Given the description of an element on the screen output the (x, y) to click on. 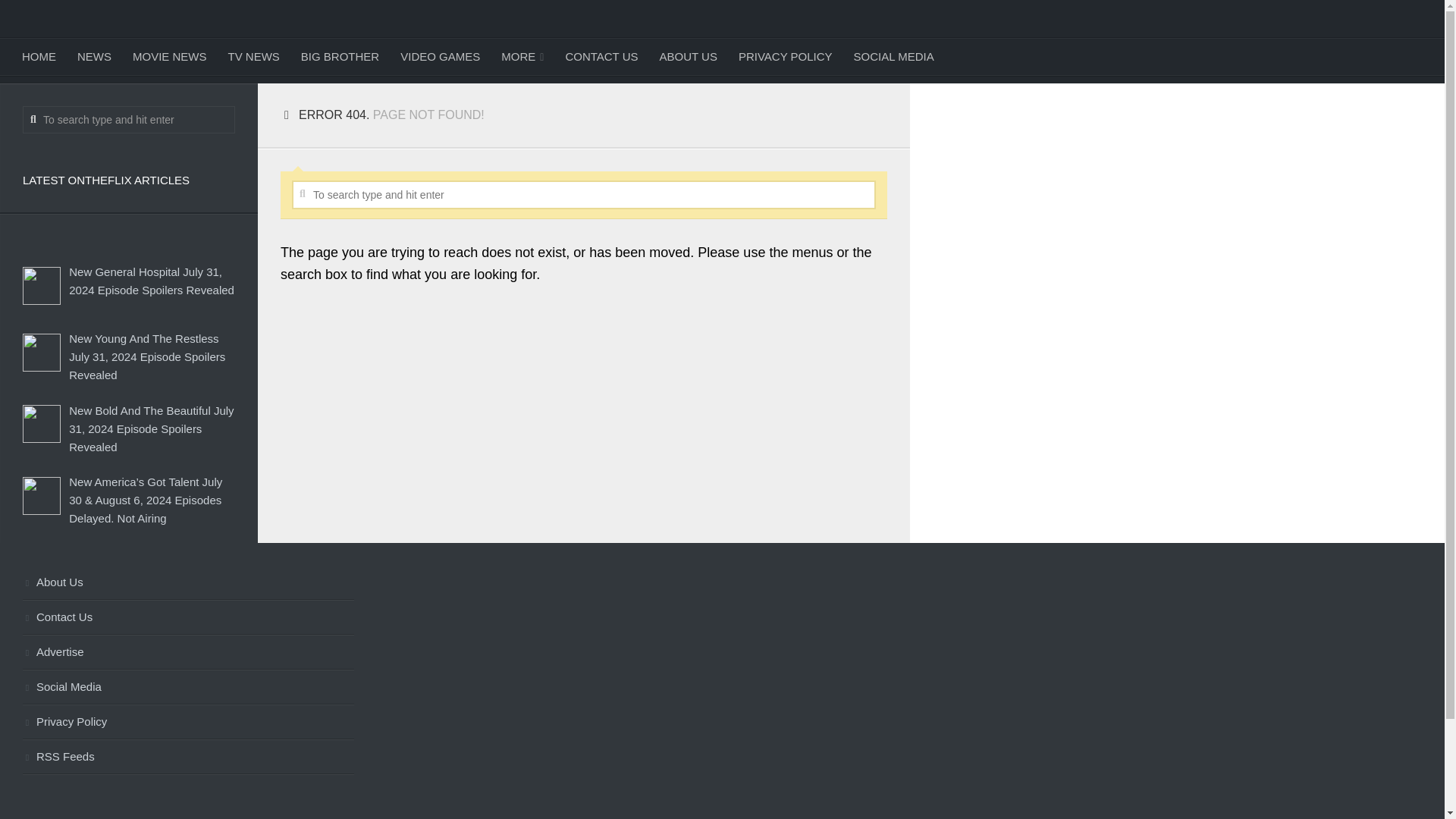
MOVIE NEWS (169, 56)
CONTACT US (600, 56)
Social Media (188, 687)
HOME (38, 56)
Advertise (188, 652)
To search type and hit enter (128, 119)
About Us (188, 582)
Privacy Policy (188, 722)
ABOUT US (688, 56)
PRIVACY POLICY (785, 56)
MORE (522, 56)
BIG BROTHER (339, 56)
To search type and hit enter (584, 194)
